Given the description of an element on the screen output the (x, y) to click on. 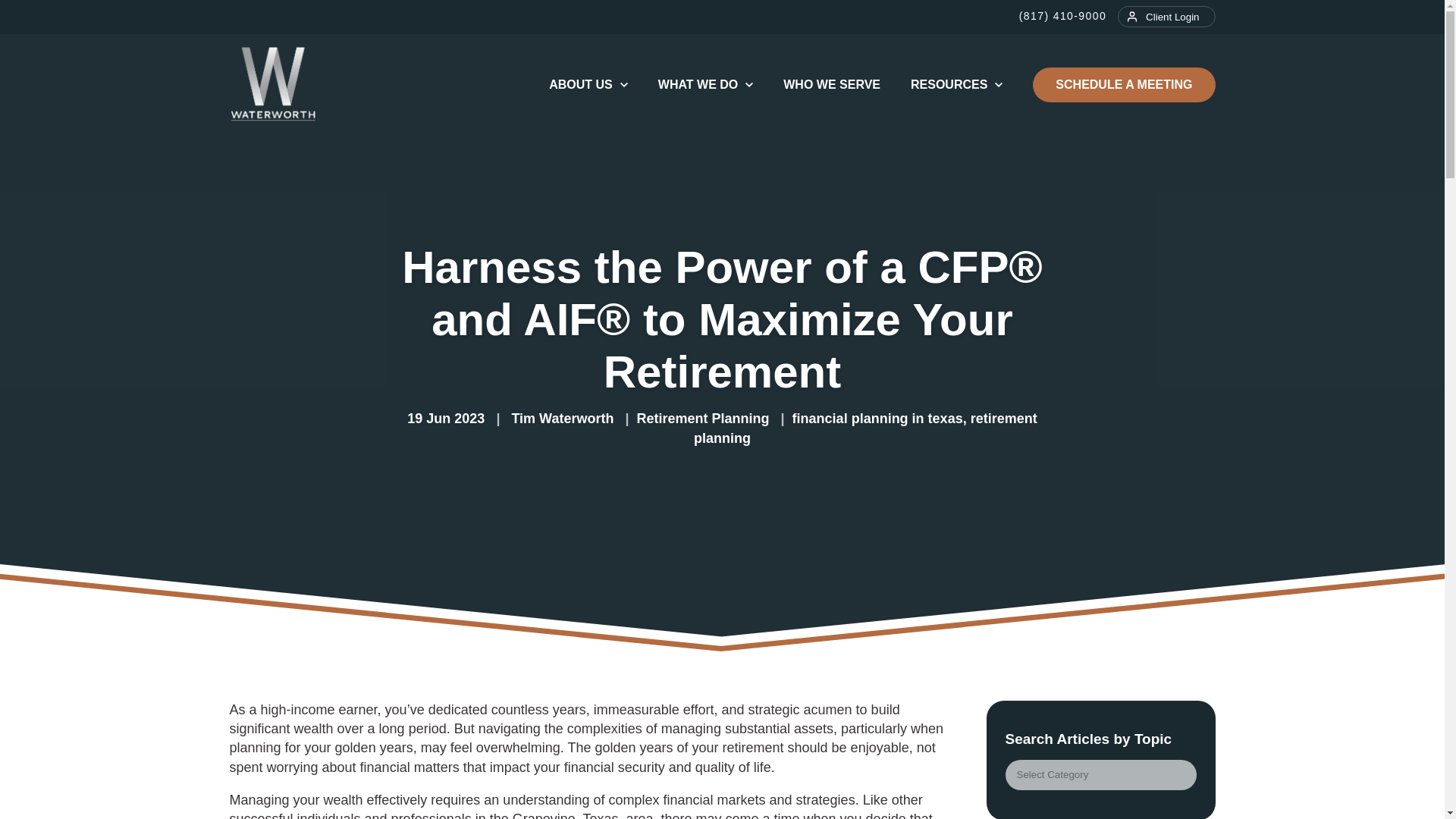
WHAT WE DO (705, 84)
RESOURCES (957, 84)
WHO WE SERVE (831, 84)
Client Login (1166, 16)
SCHEDULE A MEETING (1123, 84)
ABOUT US (587, 84)
